Given the description of an element on the screen output the (x, y) to click on. 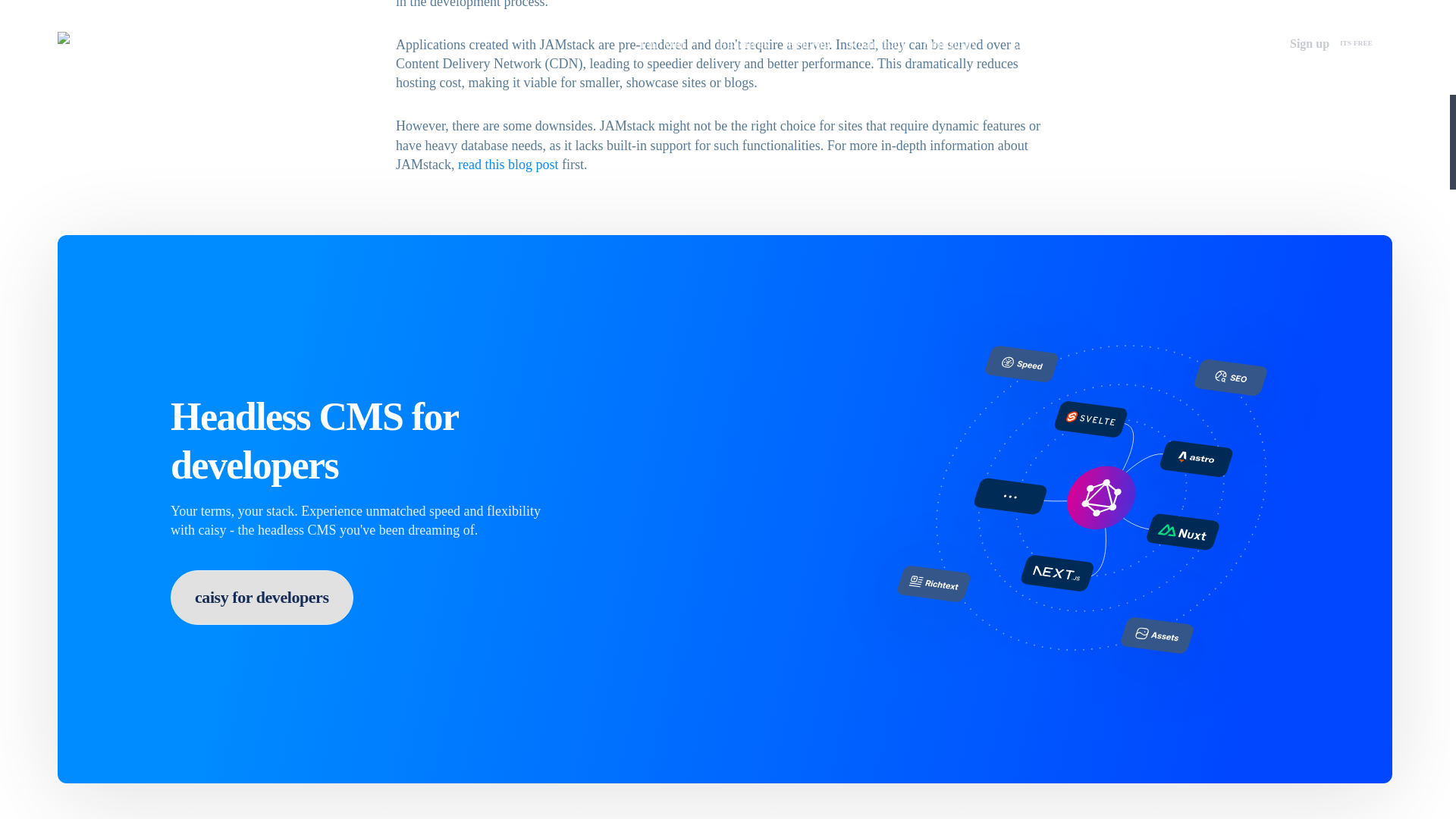
read this blog post (508, 164)
caisy for developers (261, 598)
caisy for developers (261, 597)
